Given the description of an element on the screen output the (x, y) to click on. 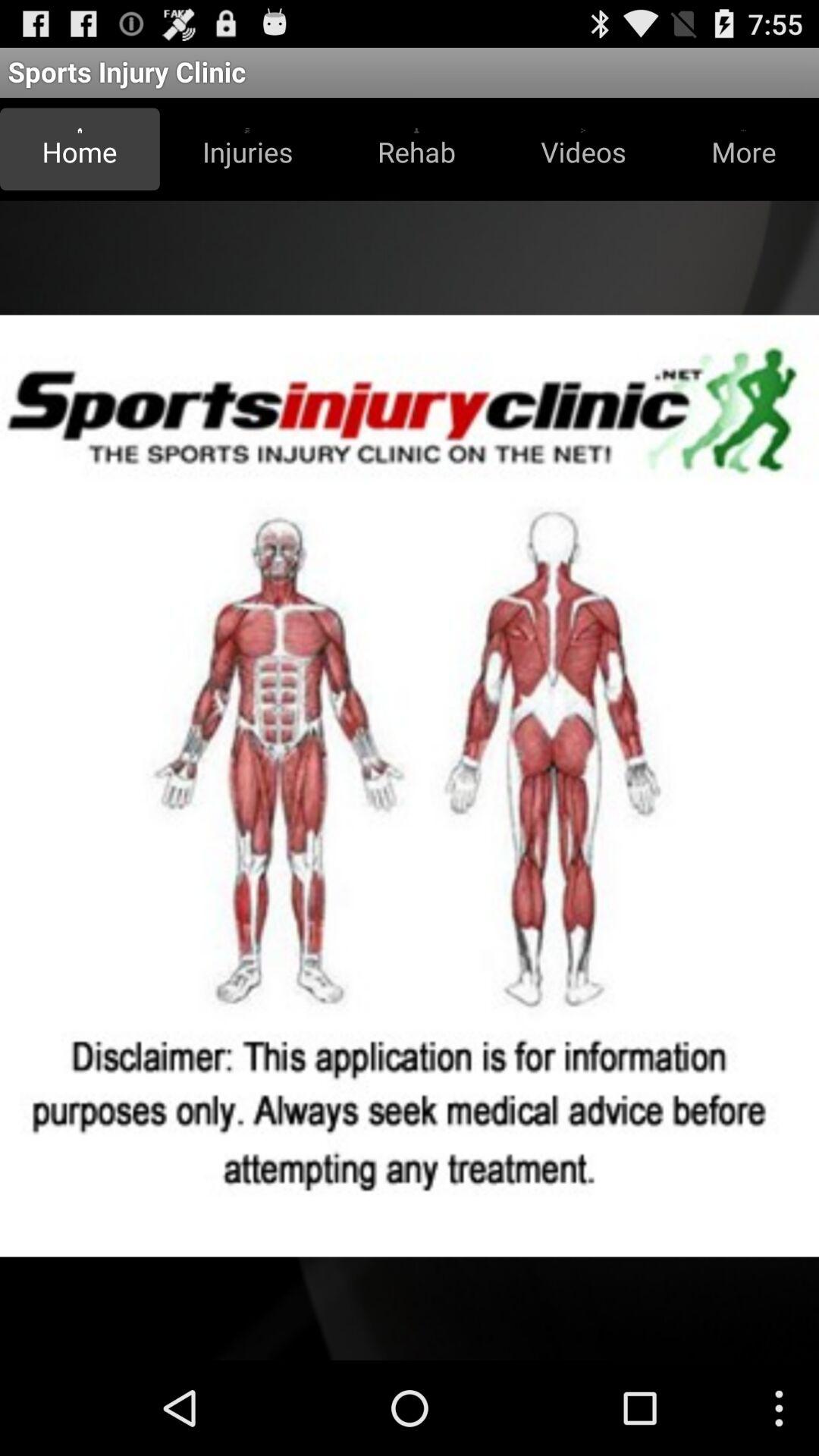
choose item below the sports injury clinic item (743, 149)
